Given the description of an element on the screen output the (x, y) to click on. 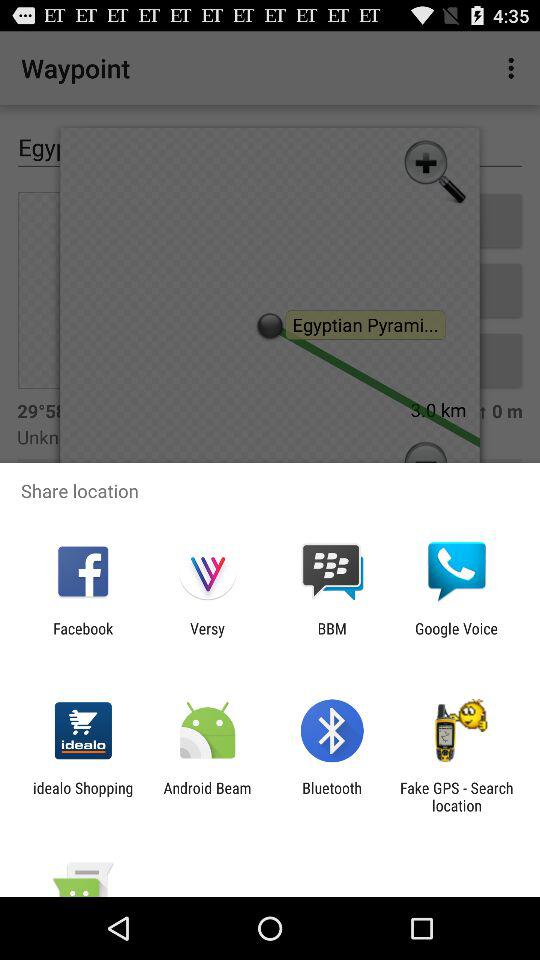
flip to the google voice (456, 637)
